Given the description of an element on the screen output the (x, y) to click on. 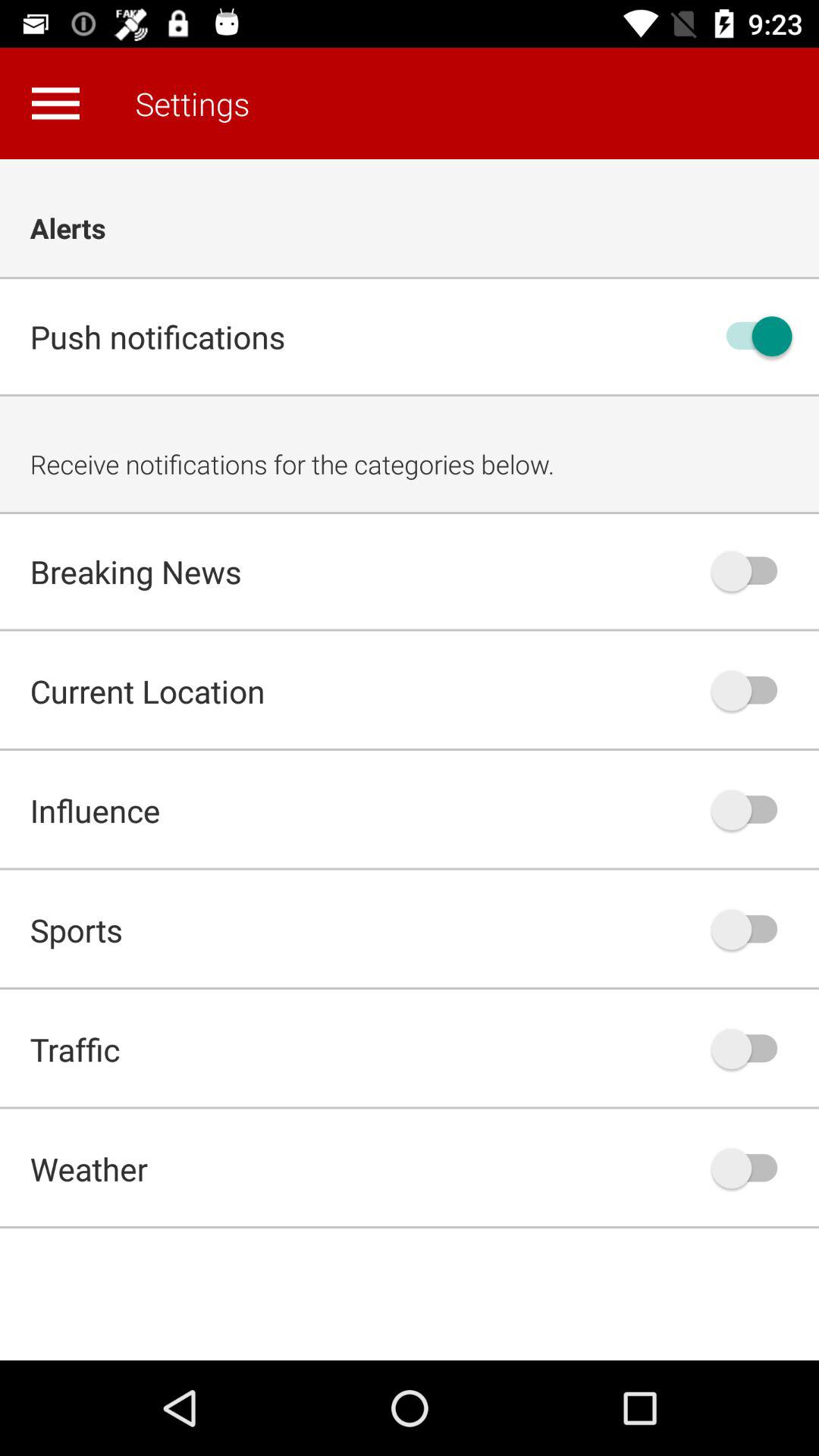
toggle sports alert option (751, 929)
